Given the description of an element on the screen output the (x, y) to click on. 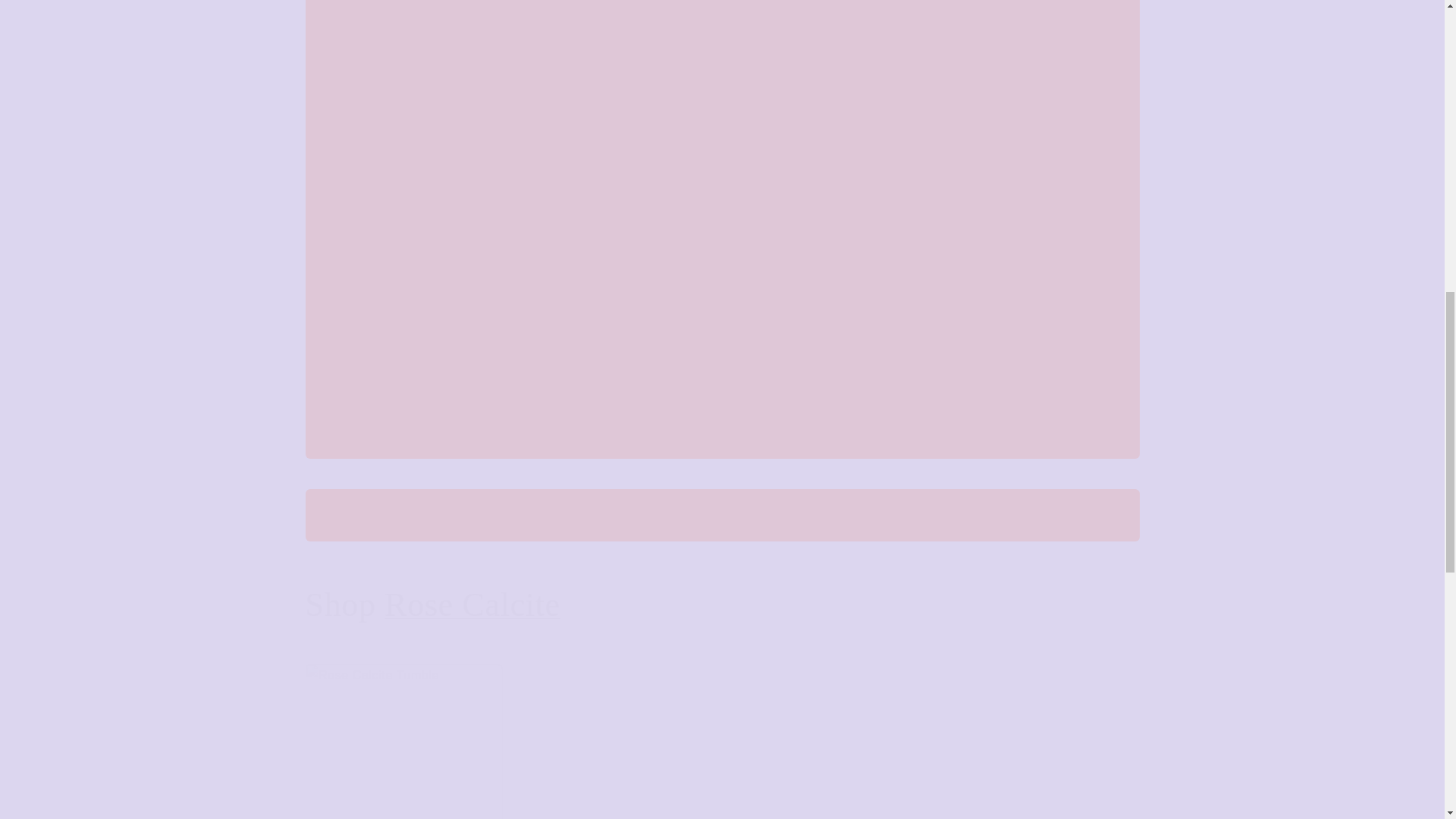
Shop Rose Calcite (721, 604)
Rose Calcite (472, 604)
How to use: (721, 350)
Metaphysical Properties: (721, 76)
